Given the description of an element on the screen output the (x, y) to click on. 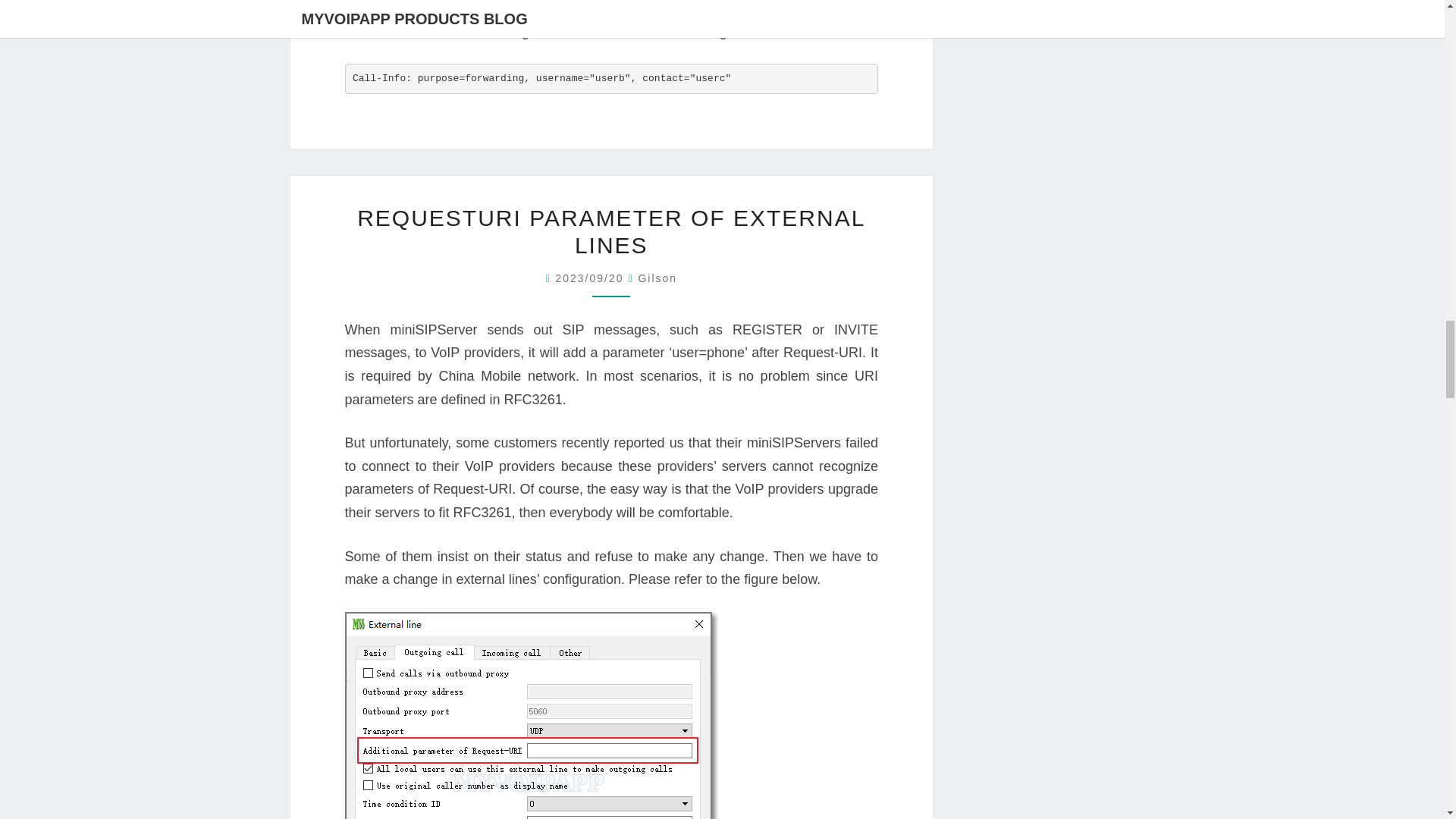
10:26 AM (590, 277)
REQUESTURI PARAMETER OF EXTERNAL LINES (610, 231)
View all posts by Gilson (657, 277)
Gilson (657, 277)
